Given the description of an element on the screen output the (x, y) to click on. 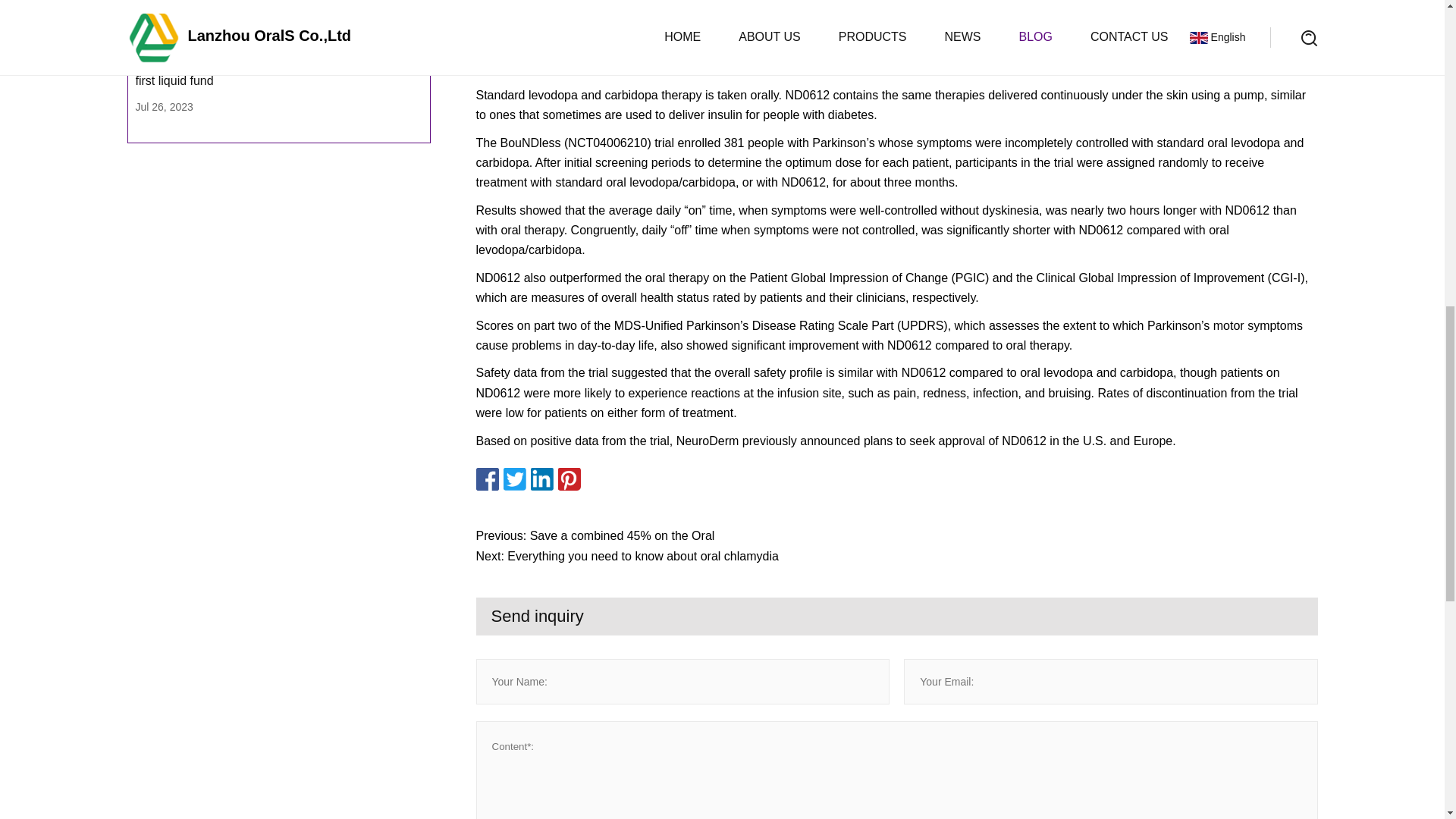
Facebook (487, 478)
Next: Everything you need to know about oral chlamydia  (896, 556)
Twitter (514, 478)
Linkedin (542, 478)
Print (596, 478)
Pinterest (568, 478)
